Given the description of an element on the screen output the (x, y) to click on. 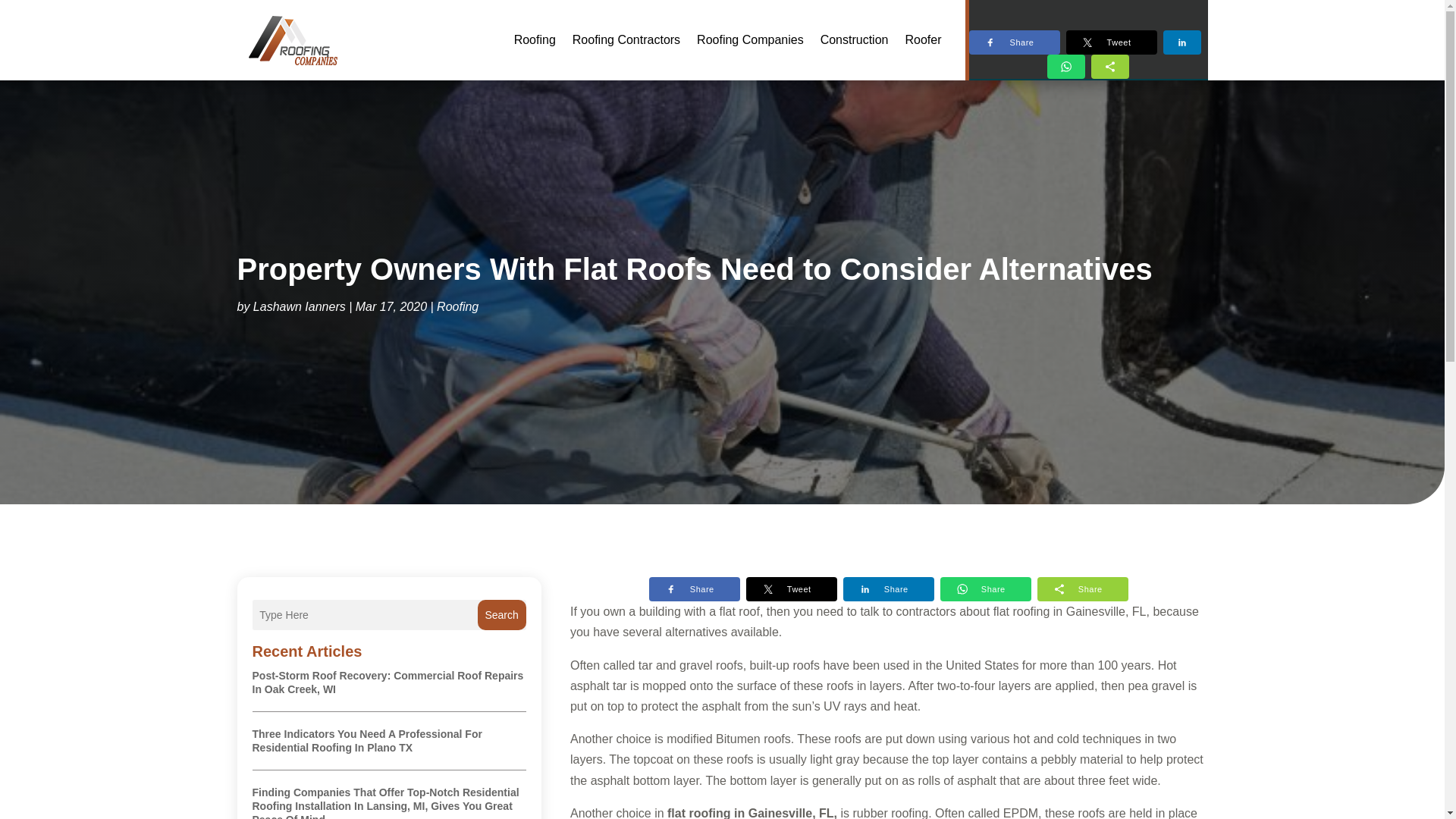
Posts by Lashawn Ianners (299, 306)
Search (501, 614)
Roofing Contractors (625, 39)
Roofing Companies (750, 39)
Roofing (457, 306)
Lashawn Ianners (299, 306)
Construction (854, 39)
